Given the description of an element on the screen output the (x, y) to click on. 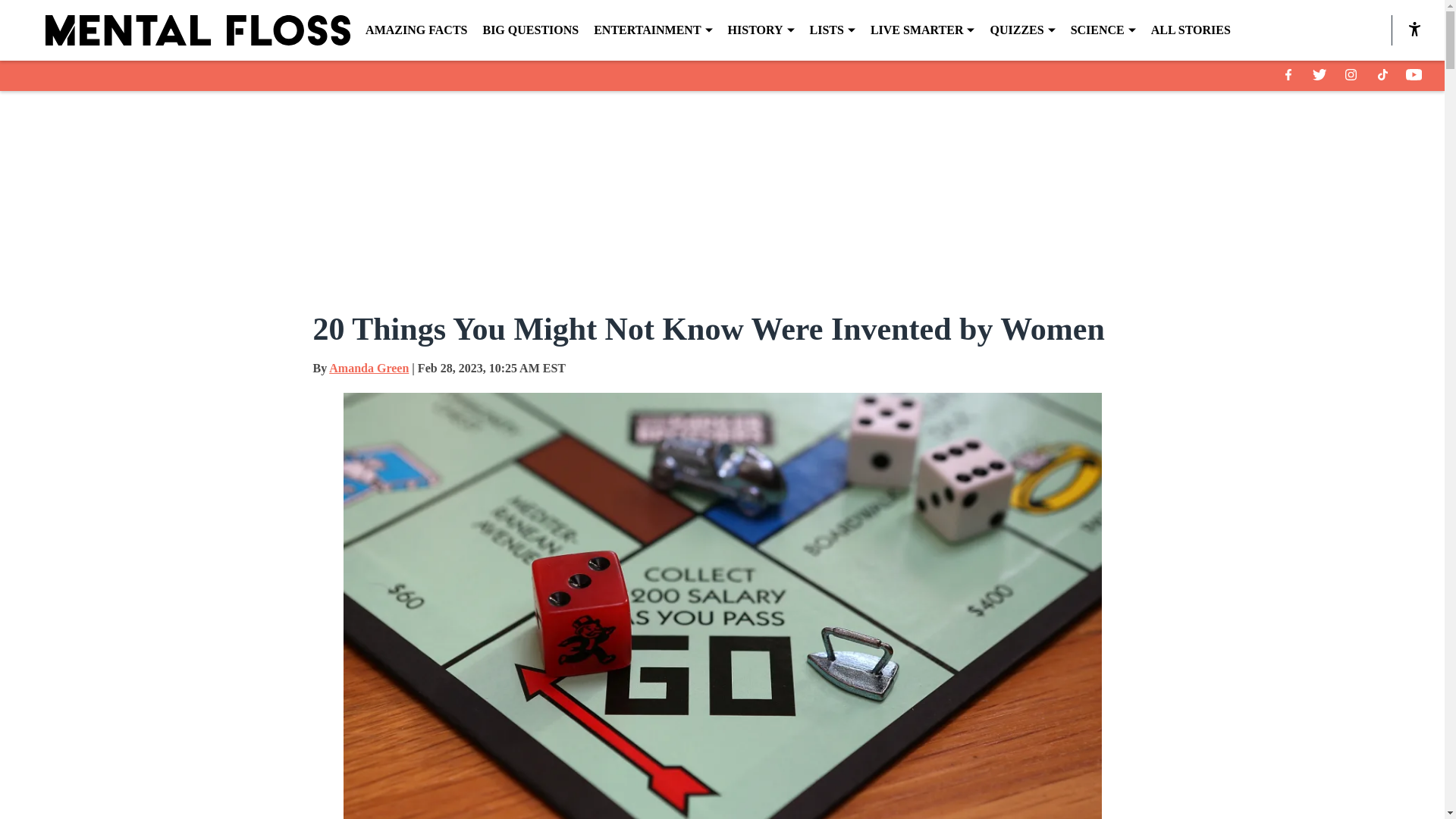
AMAZING FACTS (416, 30)
ALL STORIES (1190, 30)
BIG QUESTIONS (529, 30)
